Given the description of an element on the screen output the (x, y) to click on. 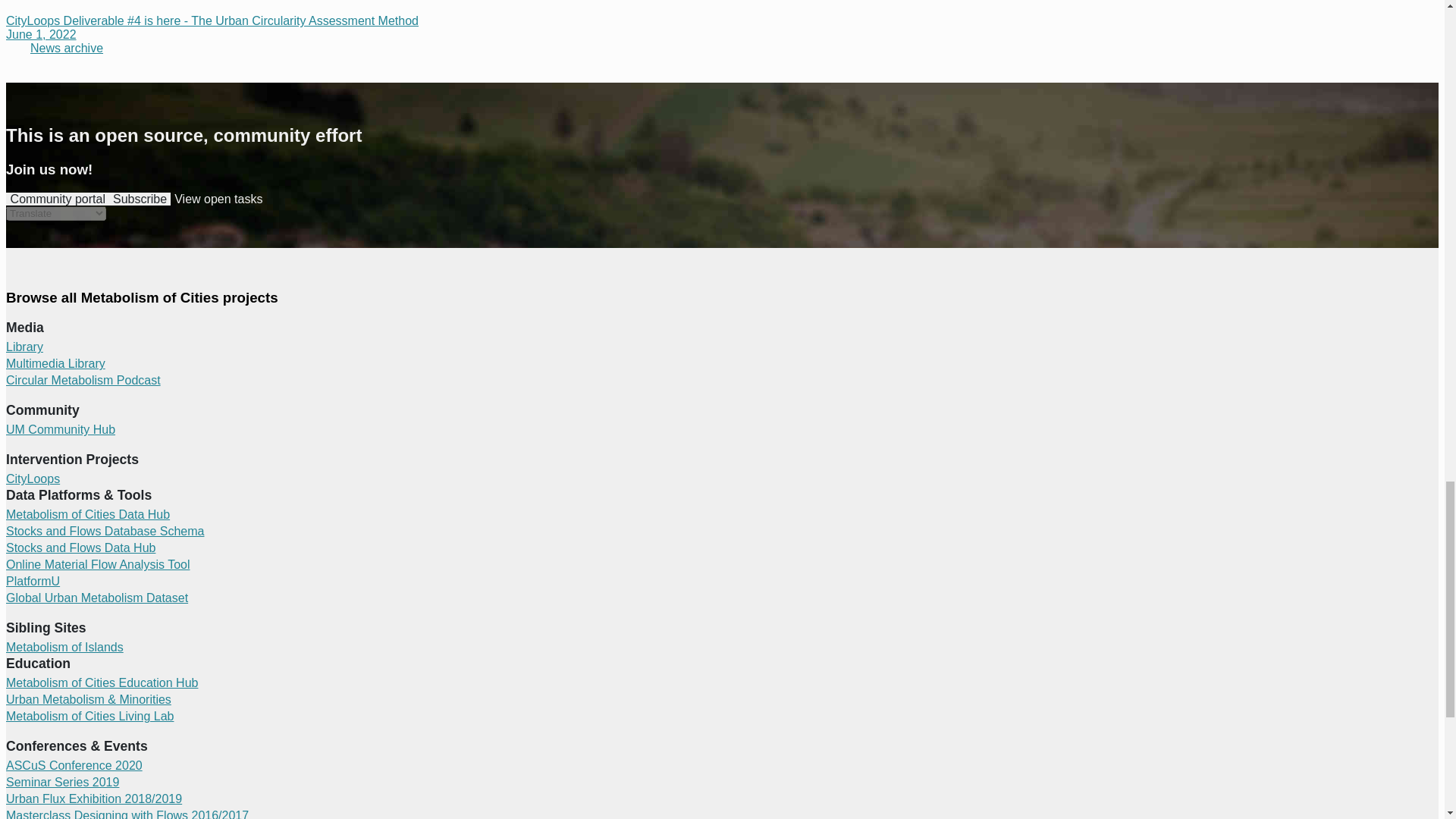
News archive (66, 47)
